Given the description of an element on the screen output the (x, y) to click on. 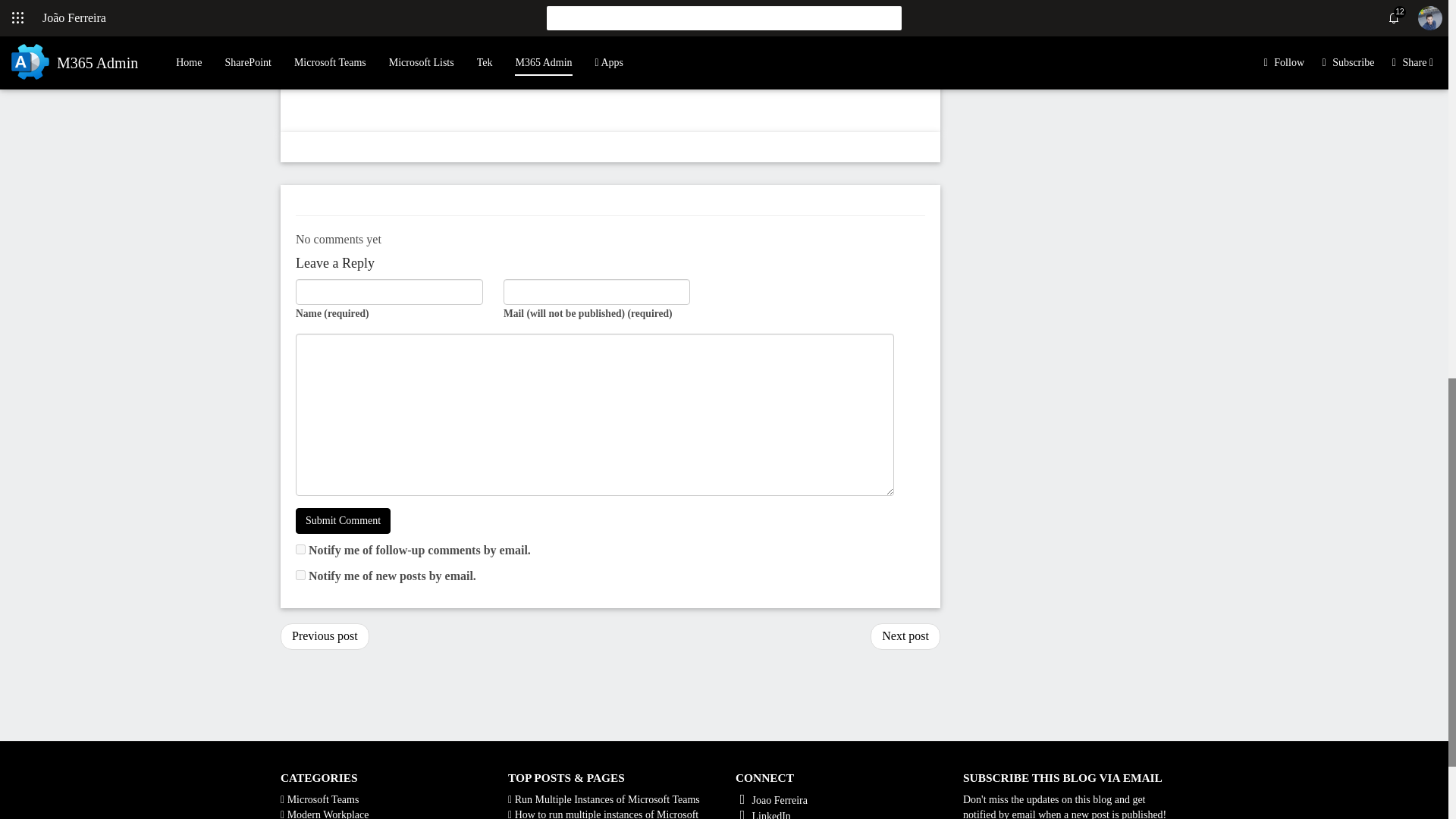
Click to share on Facebook (335, 8)
subscribe (300, 574)
Submit Comment (342, 520)
Submit Comment (342, 520)
WDAC Advanced Hunting Retired ActionTypes and Fields (905, 636)
Previous post (325, 636)
Click to share on Twitter (307, 8)
Microsoft Teams: Simplified team creation (325, 636)
subscribe (300, 549)
Next post (905, 636)
